Given the description of an element on the screen output the (x, y) to click on. 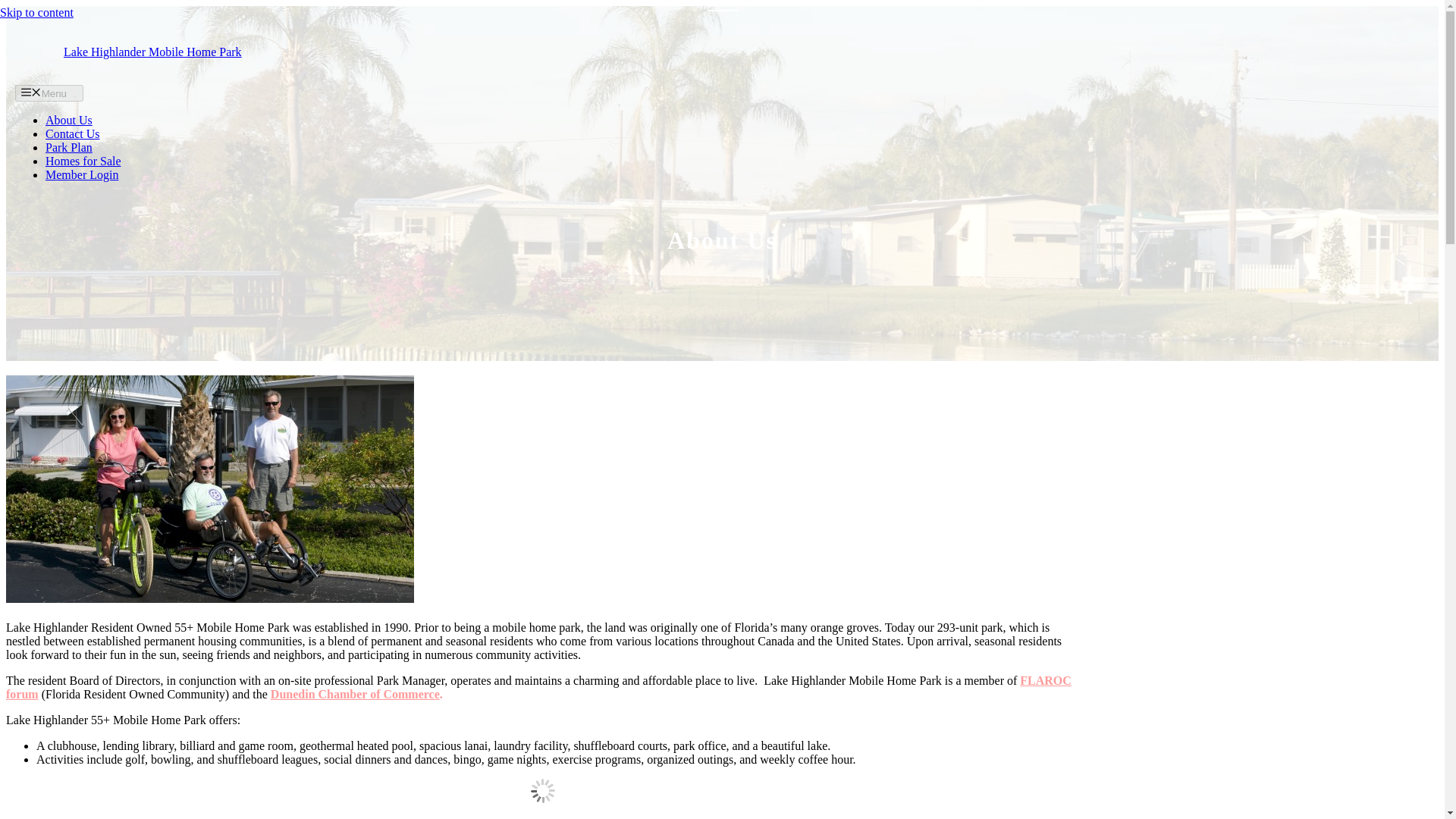
Park Plan (69, 146)
About Us (69, 119)
Lake Highlander Mobile Home Park (152, 51)
Homes for Sale (82, 160)
Skip to content (37, 11)
FLAROC forum (538, 687)
Visiti FLARAC (538, 687)
Menu (48, 93)
Dunedin Chamber of Commerce (354, 694)
Visit their website (354, 694)
